Given the description of an element on the screen output the (x, y) to click on. 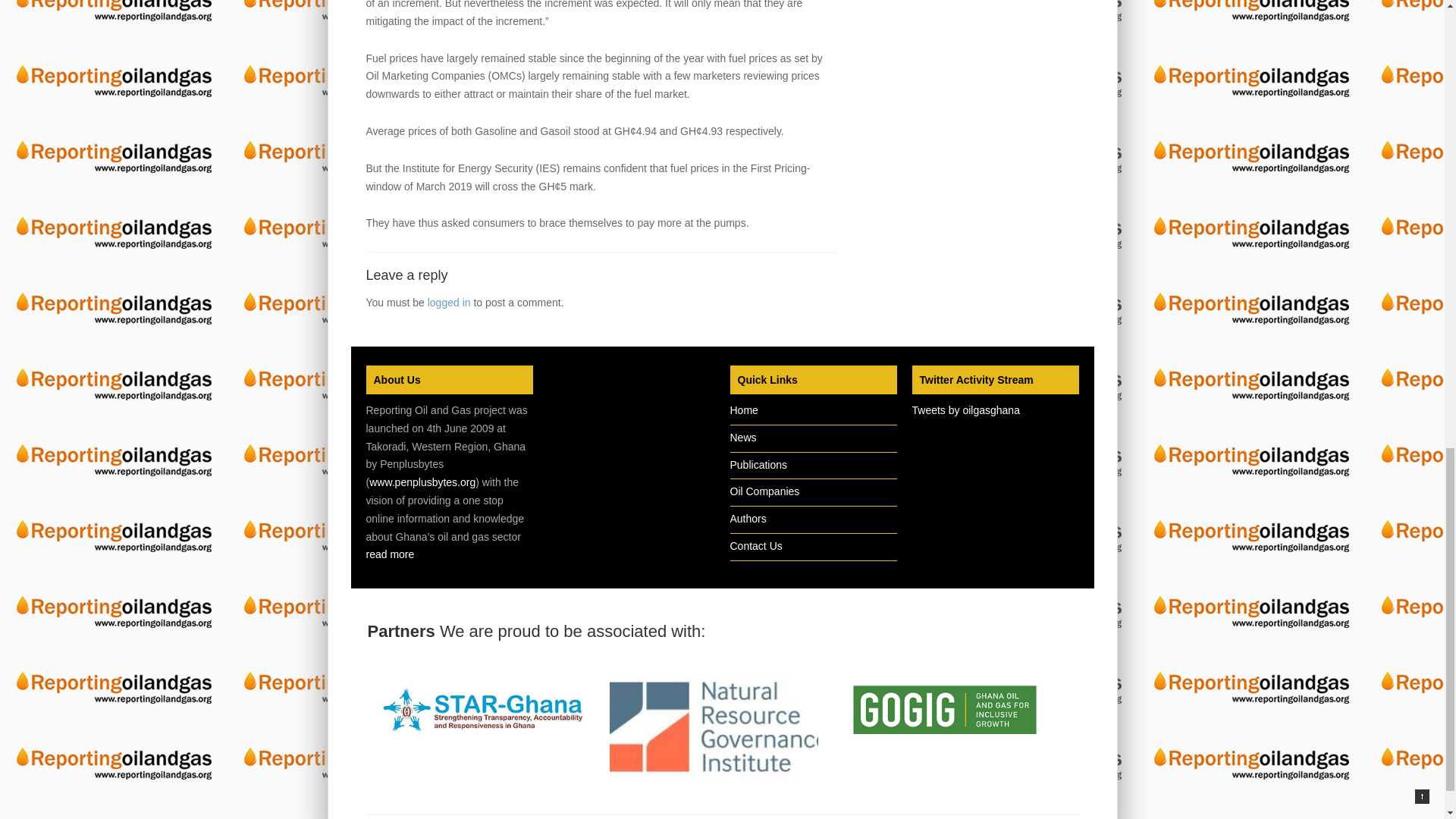
Tweets by oilgasghana (965, 410)
Oil Companies (764, 491)
logged in (449, 302)
Home (743, 410)
read more (389, 553)
News (742, 437)
www.penplusbytes.org (422, 481)
Publications (758, 464)
Contact Us (755, 545)
Authors (747, 518)
